Given the description of an element on the screen output the (x, y) to click on. 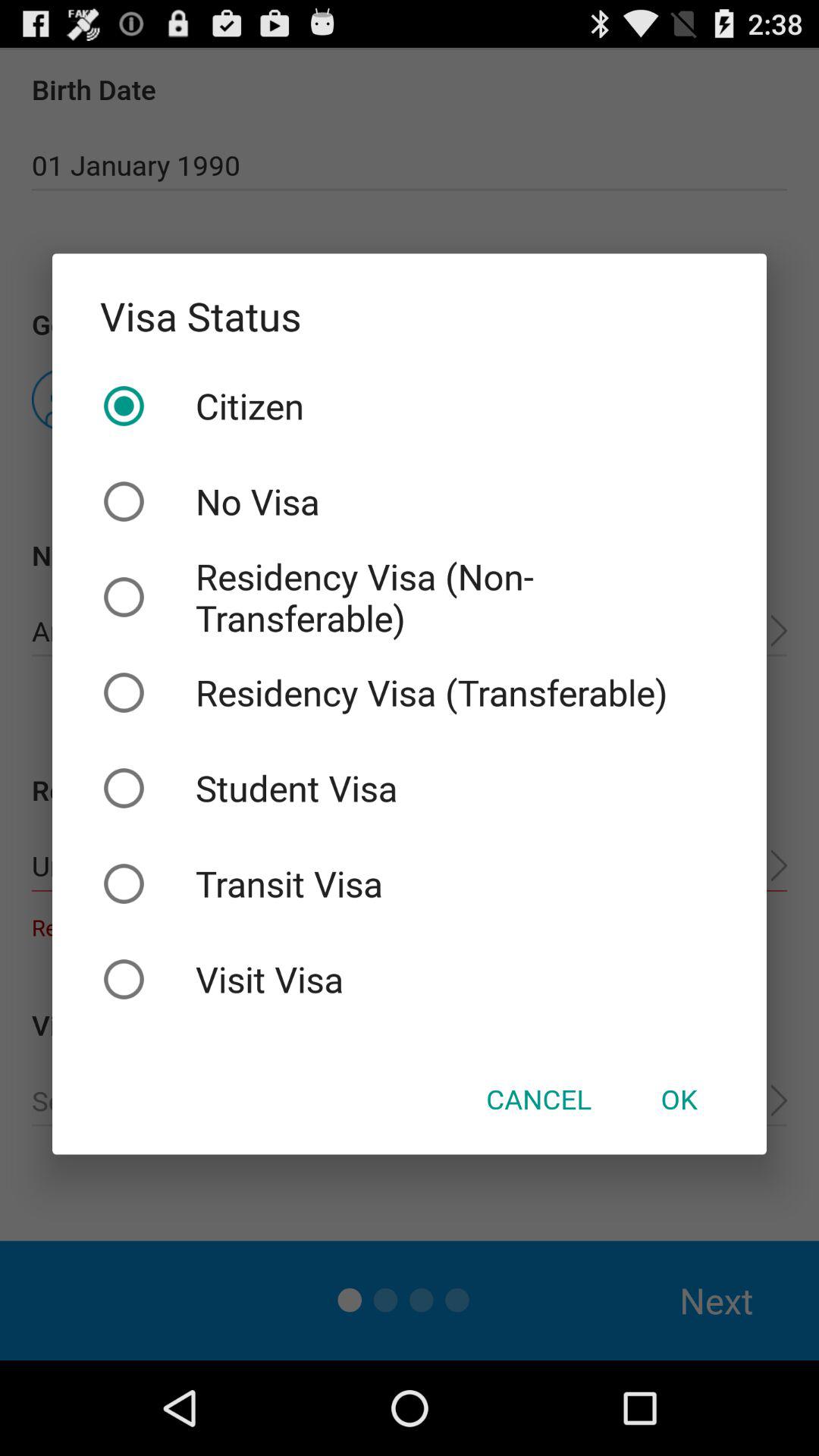
select the item to the right of cancel icon (678, 1098)
